Given the description of an element on the screen output the (x, y) to click on. 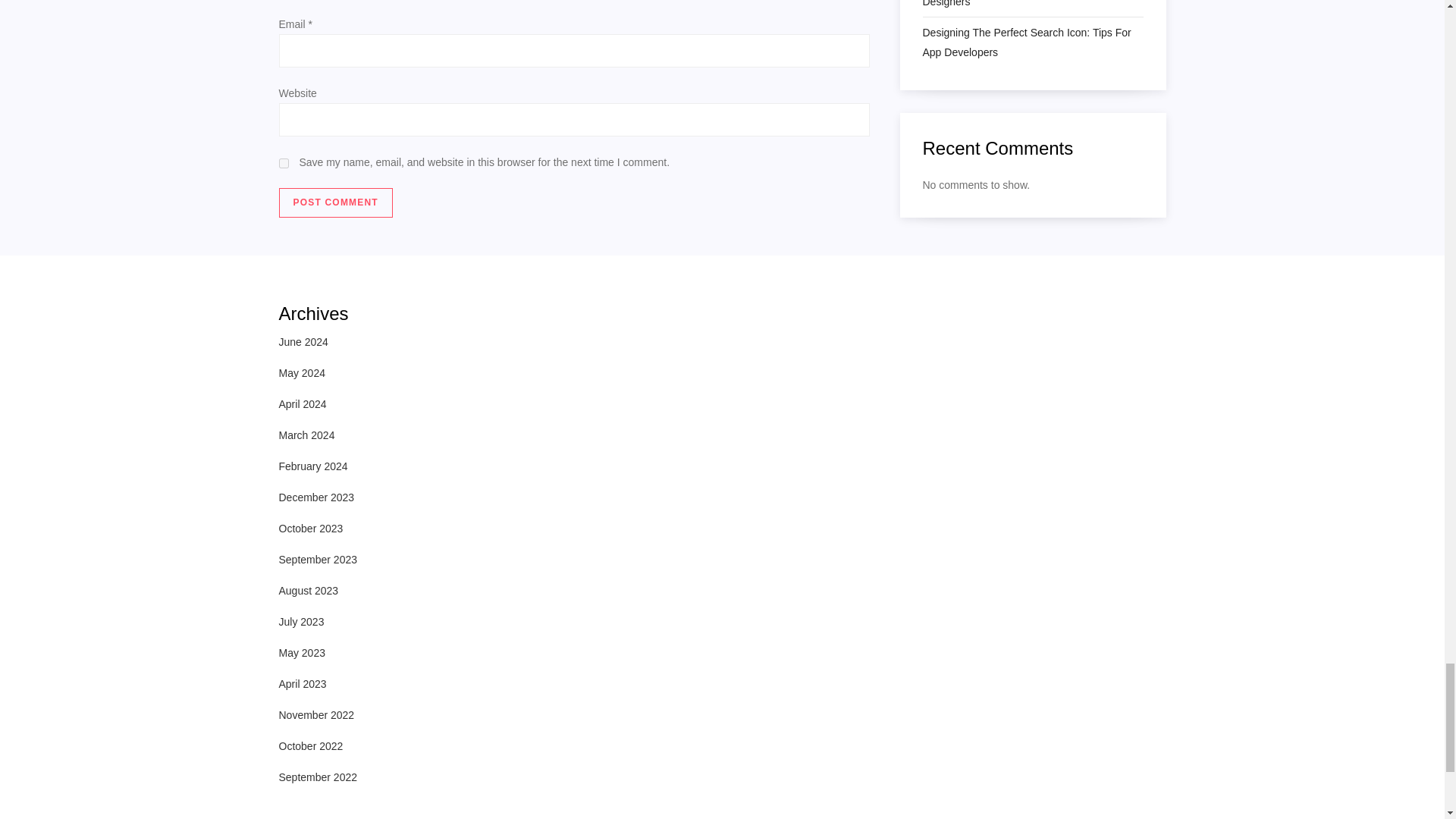
April 2023 (302, 683)
yes (283, 162)
December 2023 (317, 496)
October 2022 (311, 745)
July 2023 (301, 621)
May 2024 (301, 373)
September 2023 (318, 559)
October 2023 (311, 528)
June 2024 (304, 342)
Post Comment (336, 203)
November 2022 (317, 714)
August 2023 (309, 590)
May 2023 (301, 652)
April 2024 (302, 403)
March 2024 (306, 435)
